Given the description of an element on the screen output the (x, y) to click on. 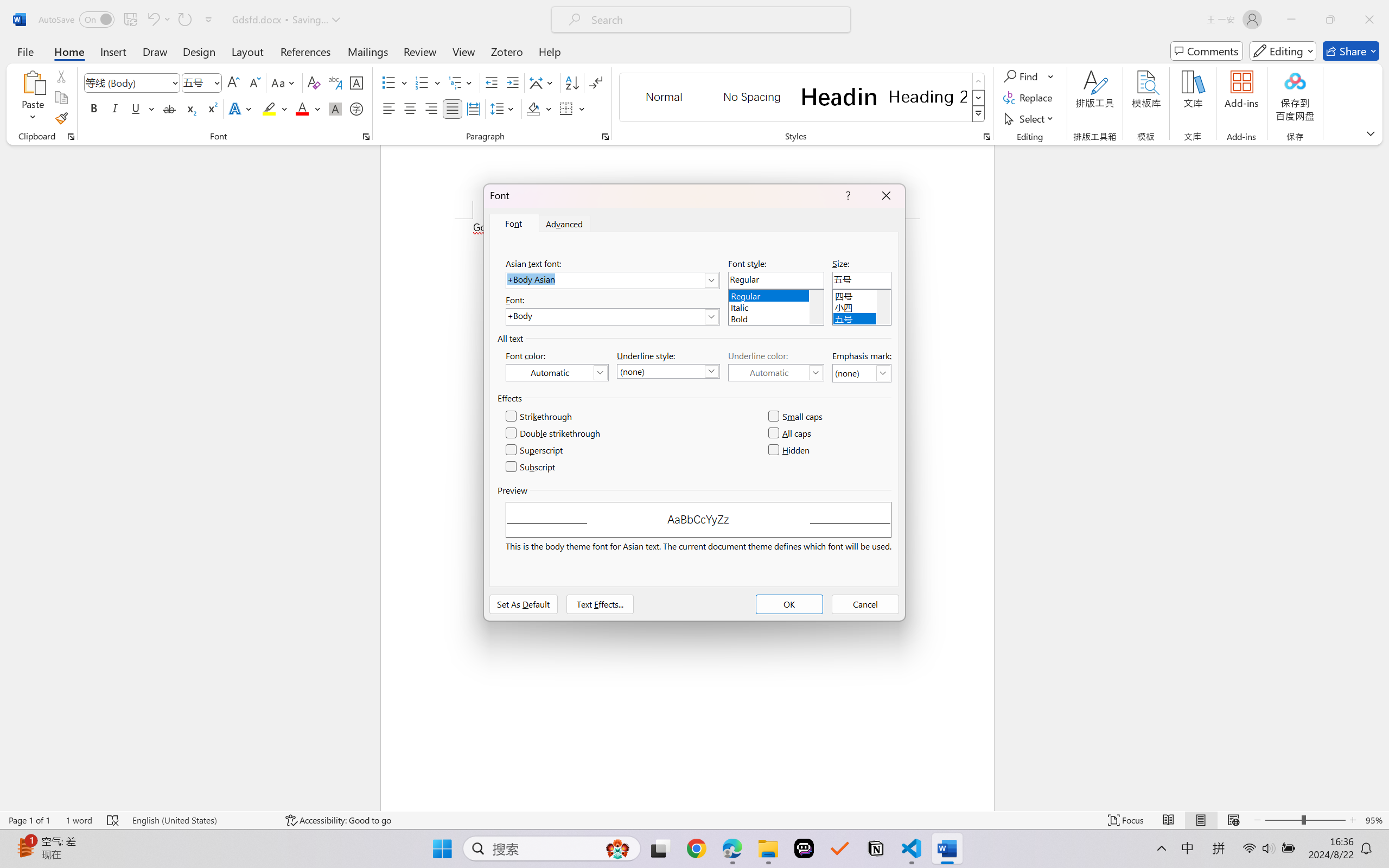
Character Shading (334, 108)
Replace... (1029, 97)
Undo Style (158, 19)
Spelling and Grammar Check Errors (113, 819)
Row up (978, 81)
Font Color Red (302, 108)
Clear Formatting (313, 82)
